Given the description of an element on the screen output the (x, y) to click on. 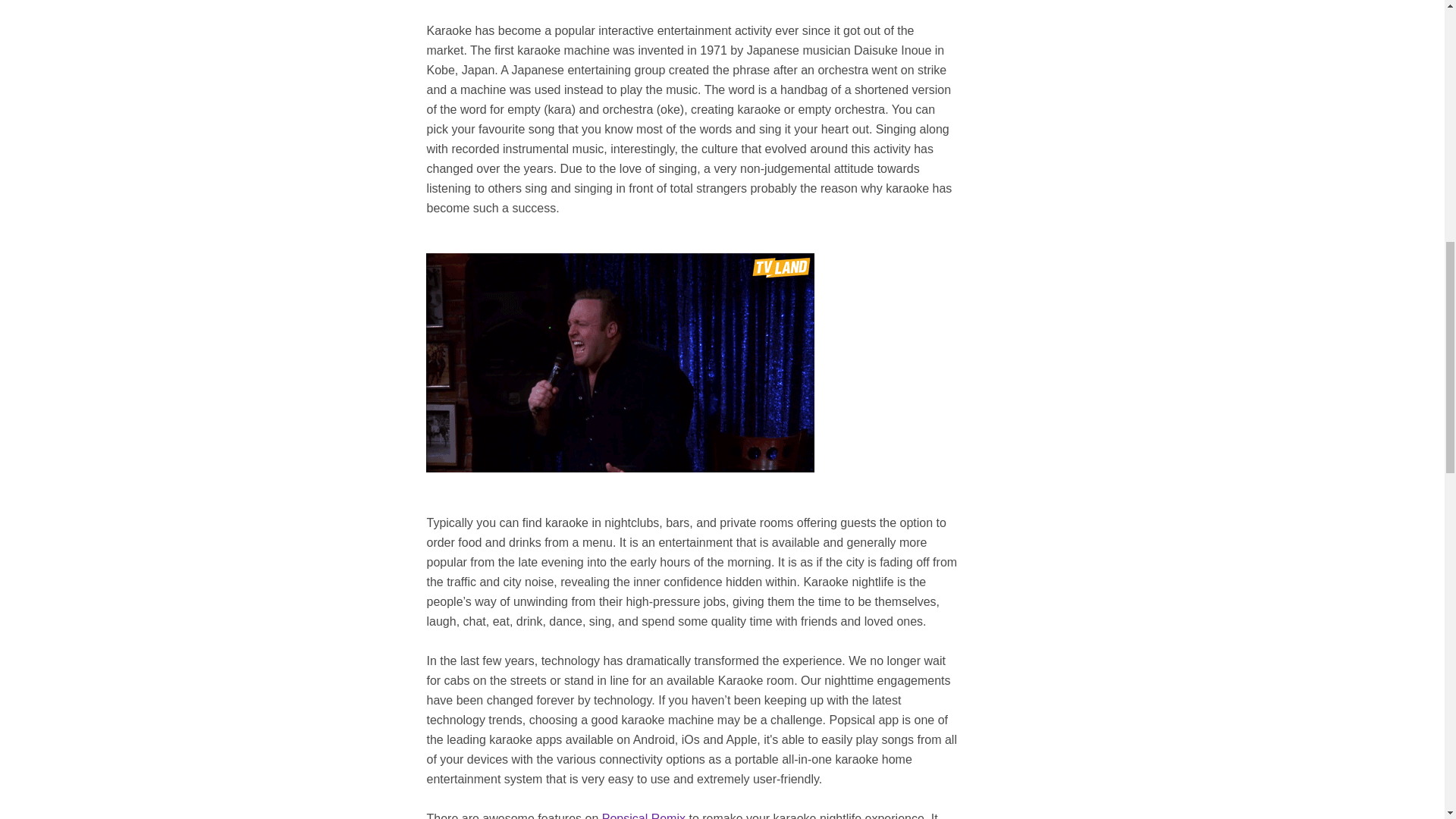
Popsical Remix (643, 815)
